Given the description of an element on the screen output the (x, y) to click on. 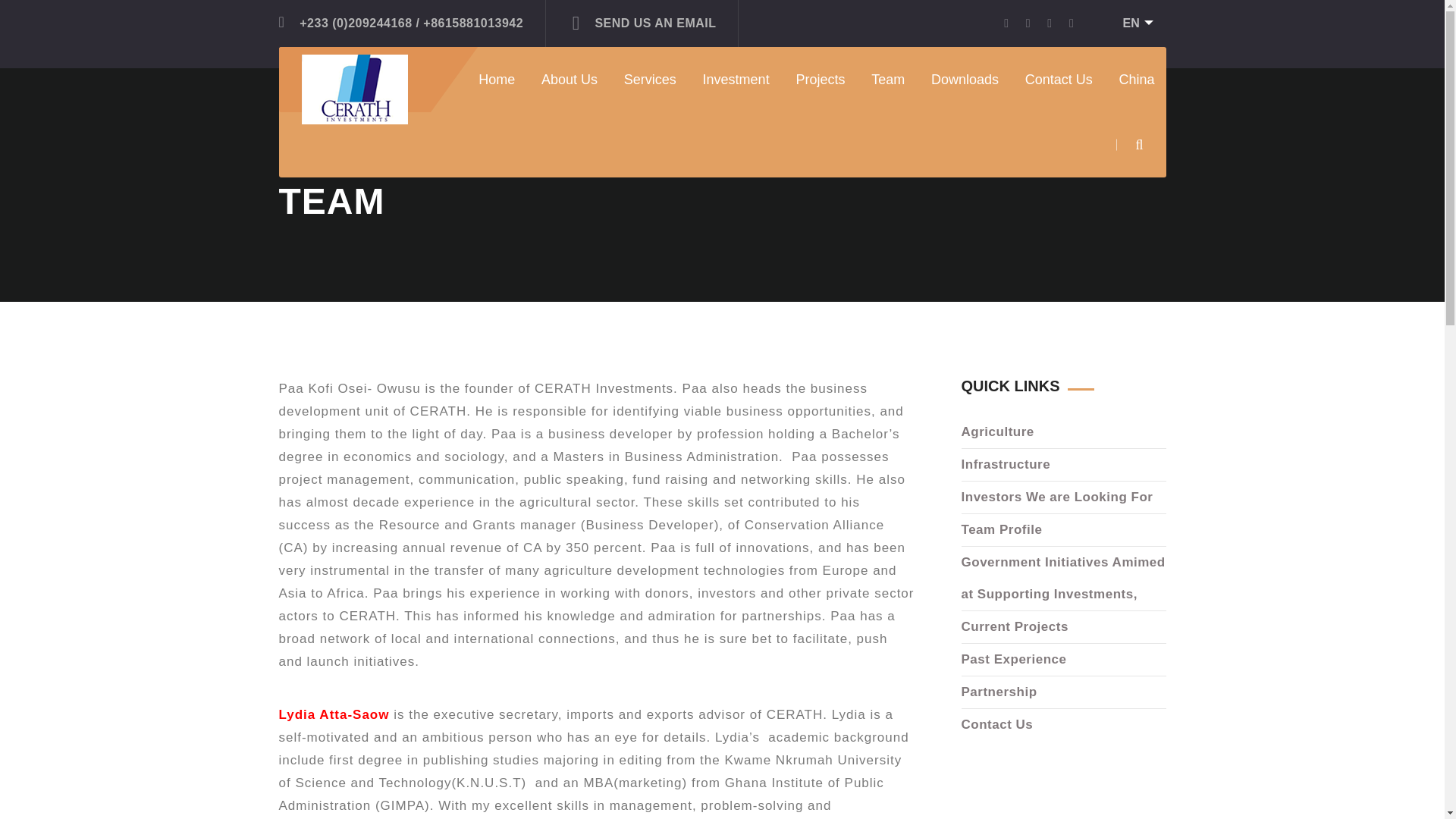
Partnership (751, 128)
Cerath Investments Brochure (1023, 128)
Investment Opportunities (785, 128)
Investment Opportunities (785, 128)
Cerath Investments Brochure (1023, 128)
Government Initiatives Amimed at Supporting Investments, (1063, 578)
Team Profile (1063, 530)
Agriculture (1063, 432)
Investors We Are Looking For (796, 128)
Downloads (964, 79)
EN (1132, 23)
Past Experience (763, 128)
Past Experience (763, 128)
Presentation On Cerath Investments (1042, 128)
Investment (736, 79)
